Given the description of an element on the screen output the (x, y) to click on. 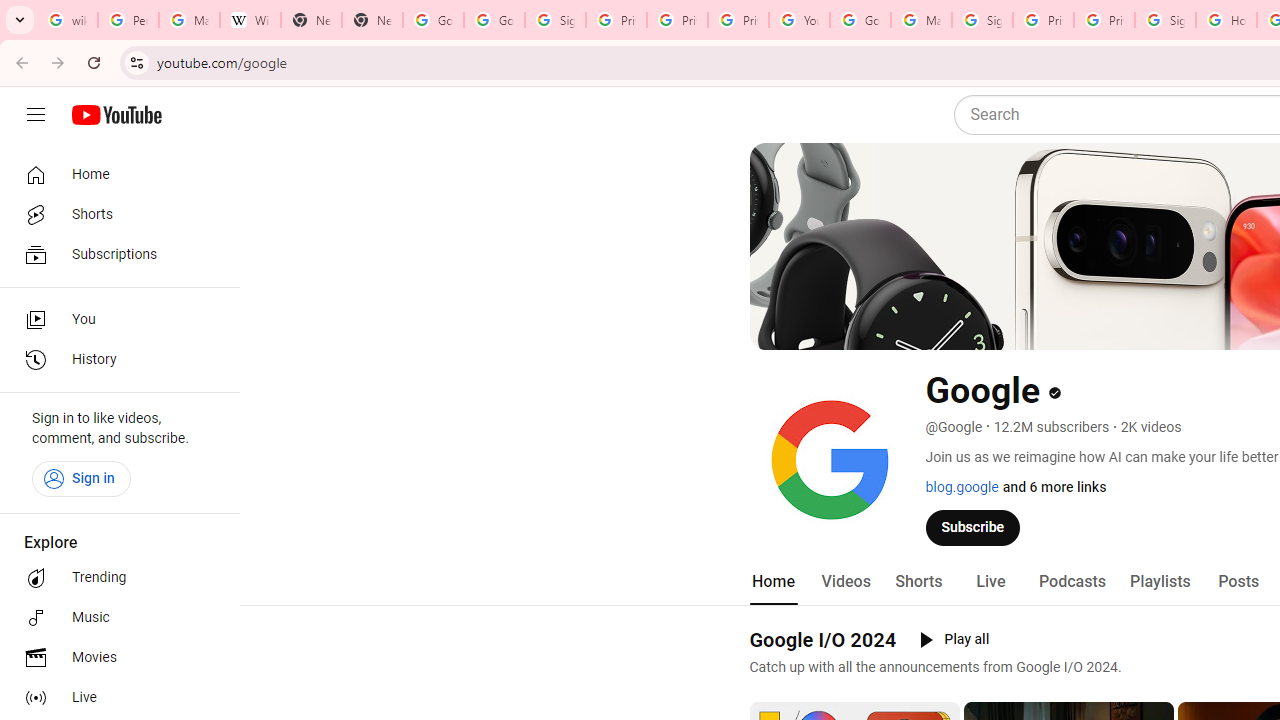
Sign in - Google Accounts (555, 20)
Google Drive: Sign-in (493, 20)
Shorts (918, 581)
Home (772, 581)
Wikipedia:Edit requests - Wikipedia (250, 20)
YouTube Home (116, 115)
Shorts (113, 214)
